Given the description of an element on the screen output the (x, y) to click on. 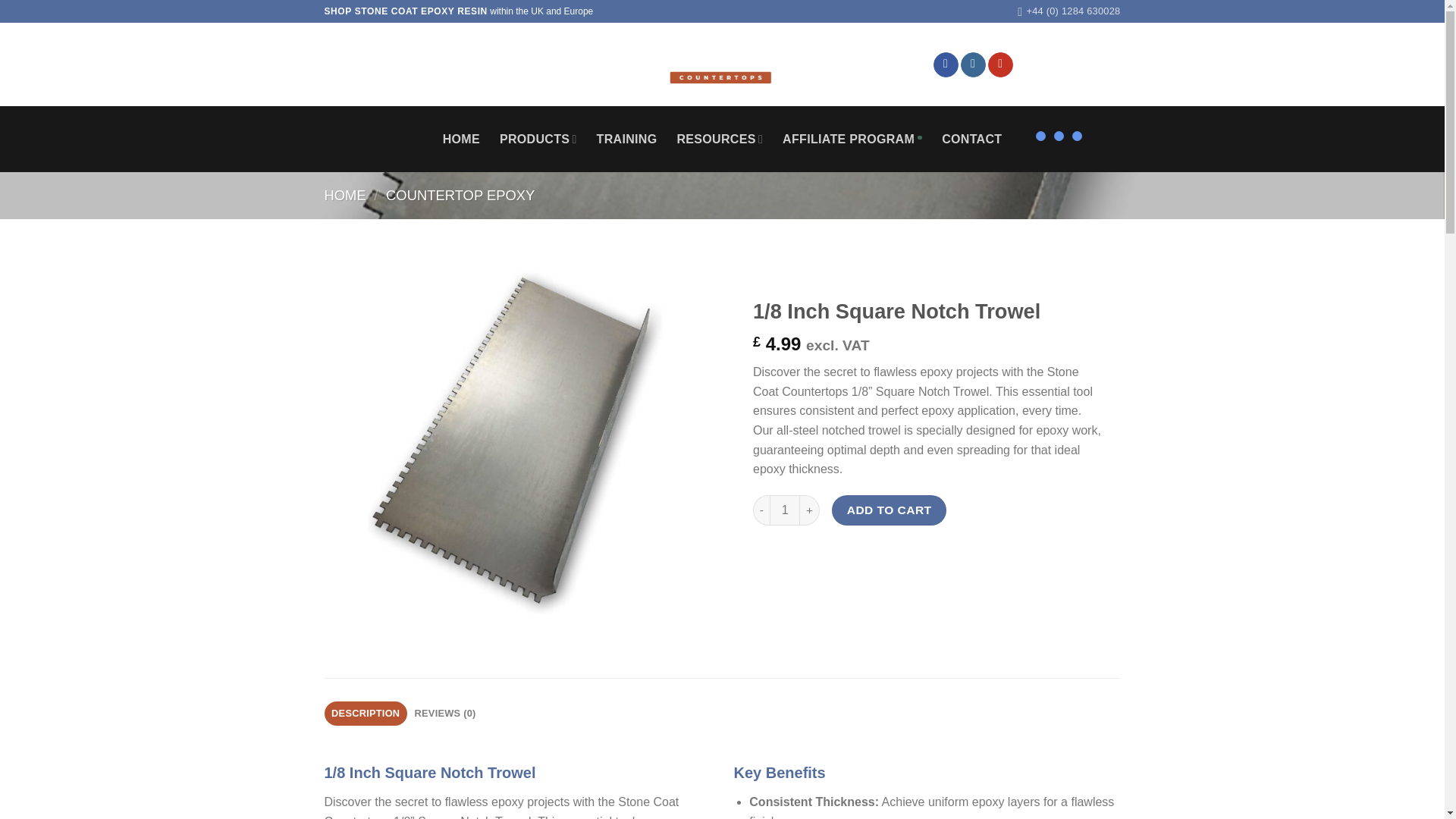
ADD TO CART (888, 510)
AFFILIATE PROGRAM (852, 139)
Login (336, 64)
Search (504, 64)
CONTACT (971, 139)
COUNTERTOP EPOXY (459, 195)
1 (784, 510)
TRAINING (627, 139)
Follow on YouTube (1000, 64)
RESOURCES (719, 139)
